Given the description of an element on the screen output the (x, y) to click on. 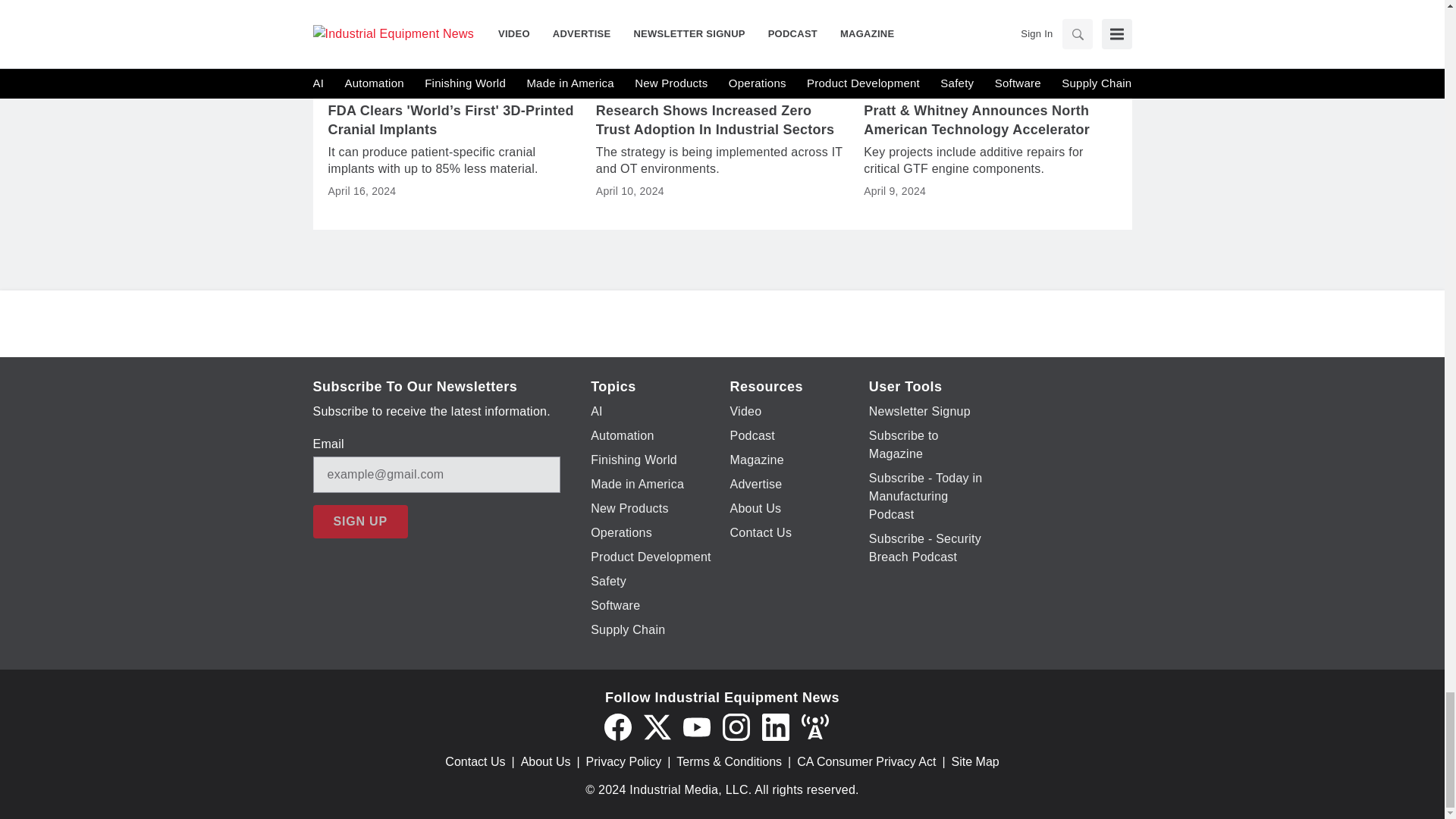
LinkedIn icon (775, 727)
YouTube icon (696, 727)
Instagram icon (735, 727)
Facebook icon (617, 727)
Twitter X icon (656, 727)
